Given the description of an element on the screen output the (x, y) to click on. 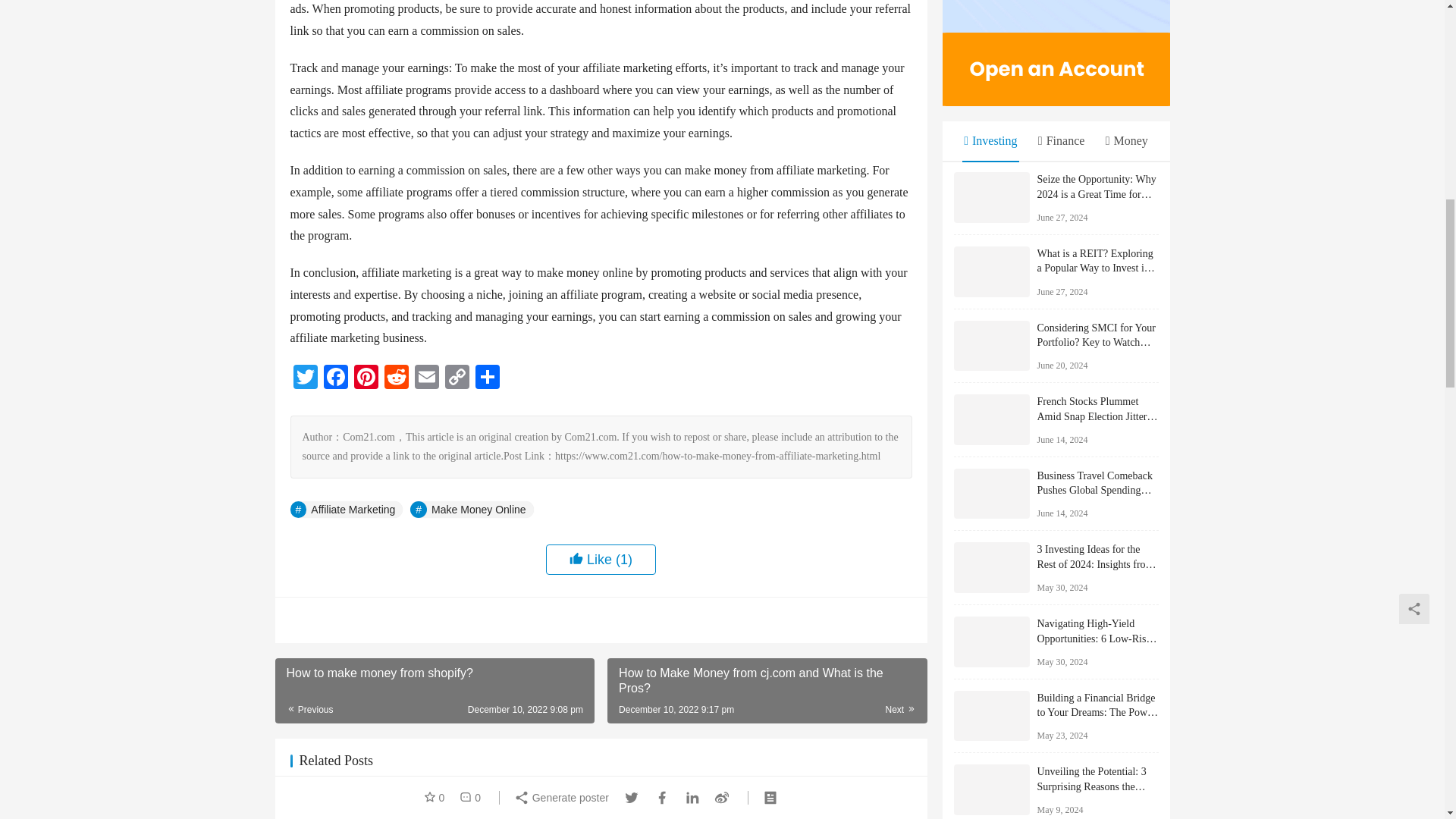
Reddit (395, 378)
How to make money from shopify? (434, 690)
Copy Link (456, 378)
Facebook (335, 378)
How to make money from shopify? (382, 805)
Facebook (335, 378)
Twitter (304, 378)
Pinterest (365, 378)
Make Money Online (471, 509)
Email (425, 378)
Reddit (395, 378)
Pinterest (365, 378)
How to Make Money from cj.com and What is the Pros? (766, 690)
Email (425, 378)
Copy Link (456, 378)
